Given the description of an element on the screen output the (x, y) to click on. 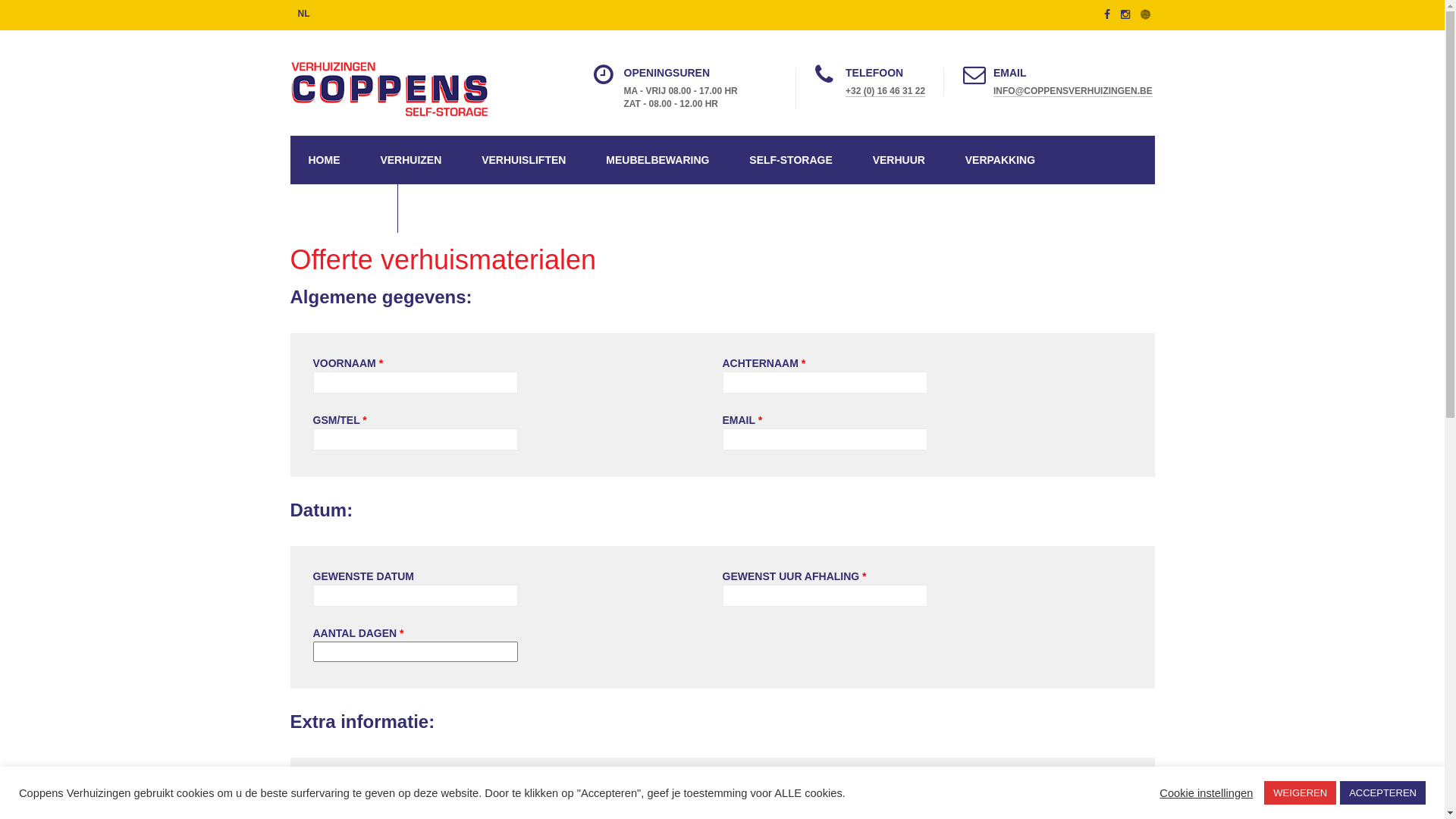
VERHUIZEN Element type: text (410, 159)
HOME Element type: text (323, 159)
INFO@COPPENSVERHUIZINGEN.BE Element type: text (1072, 91)
VERHUISLIFTEN Element type: text (523, 159)
VERHUISTIPS Element type: text (343, 208)
NL Element type: text (303, 13)
VOERTUIG TE HUREN Element type: text (881, 787)
Cookie instellingen Element type: text (1205, 792)
WEIGEREN Element type: text (1300, 792)
+32 (0) 16 46 31 22 Element type: text (885, 91)
MEUBELBEWARING Element type: text (657, 159)
VERPAKKING Element type: text (999, 159)
VERHUUR Element type: text (898, 159)
ACCEPTEREN Element type: text (1382, 792)
SELF-STORAGE Element type: text (790, 159)
